Given the description of an element on the screen output the (x, y) to click on. 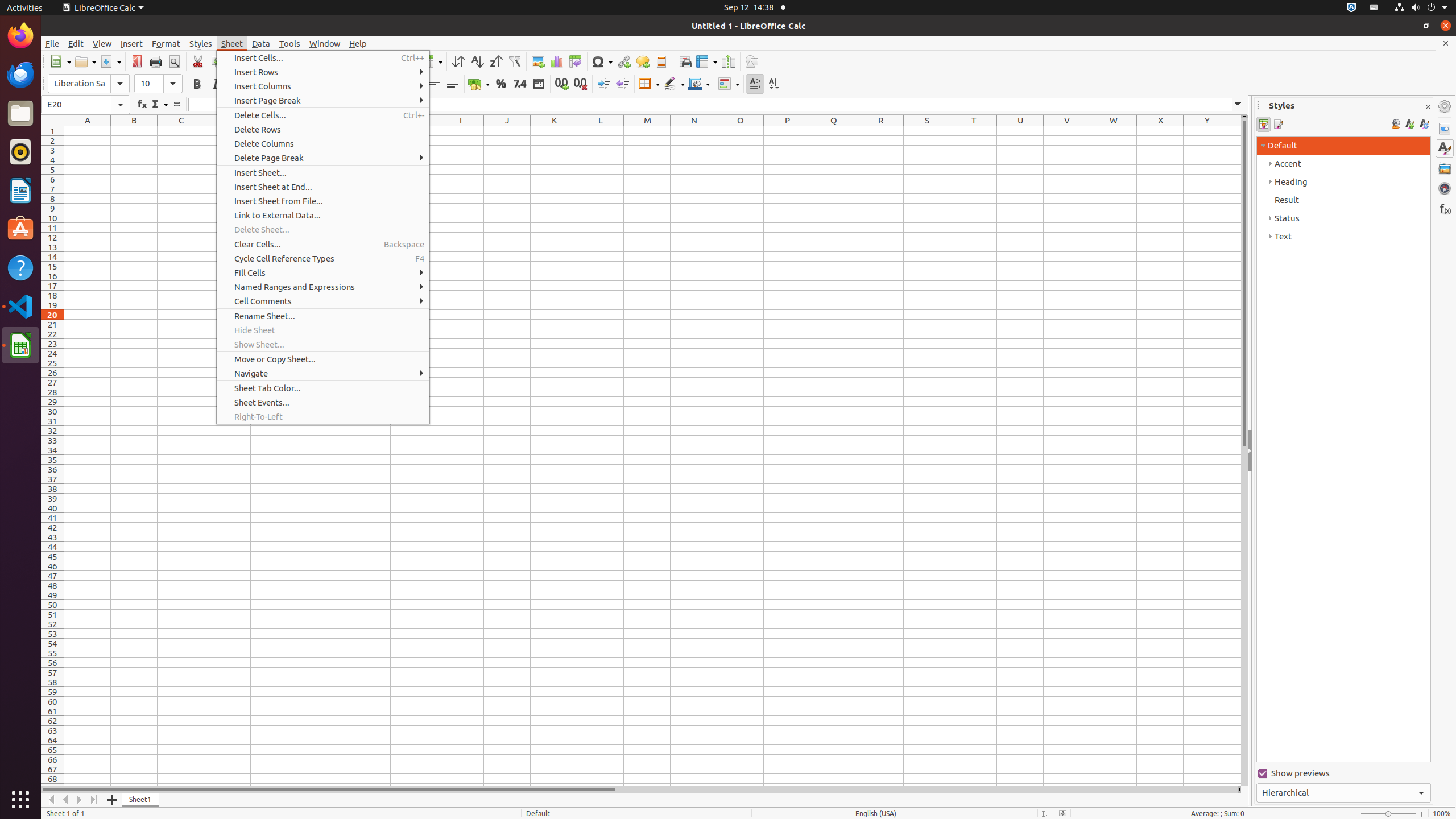
Styles Element type: menu (200, 43)
Delete Decimal Place Element type: push-button (580, 83)
Show previews Element type: check-box (1343, 773)
Symbol Element type: push-button (601, 61)
Help Element type: menu (357, 43)
